Given the description of an element on the screen output the (x, y) to click on. 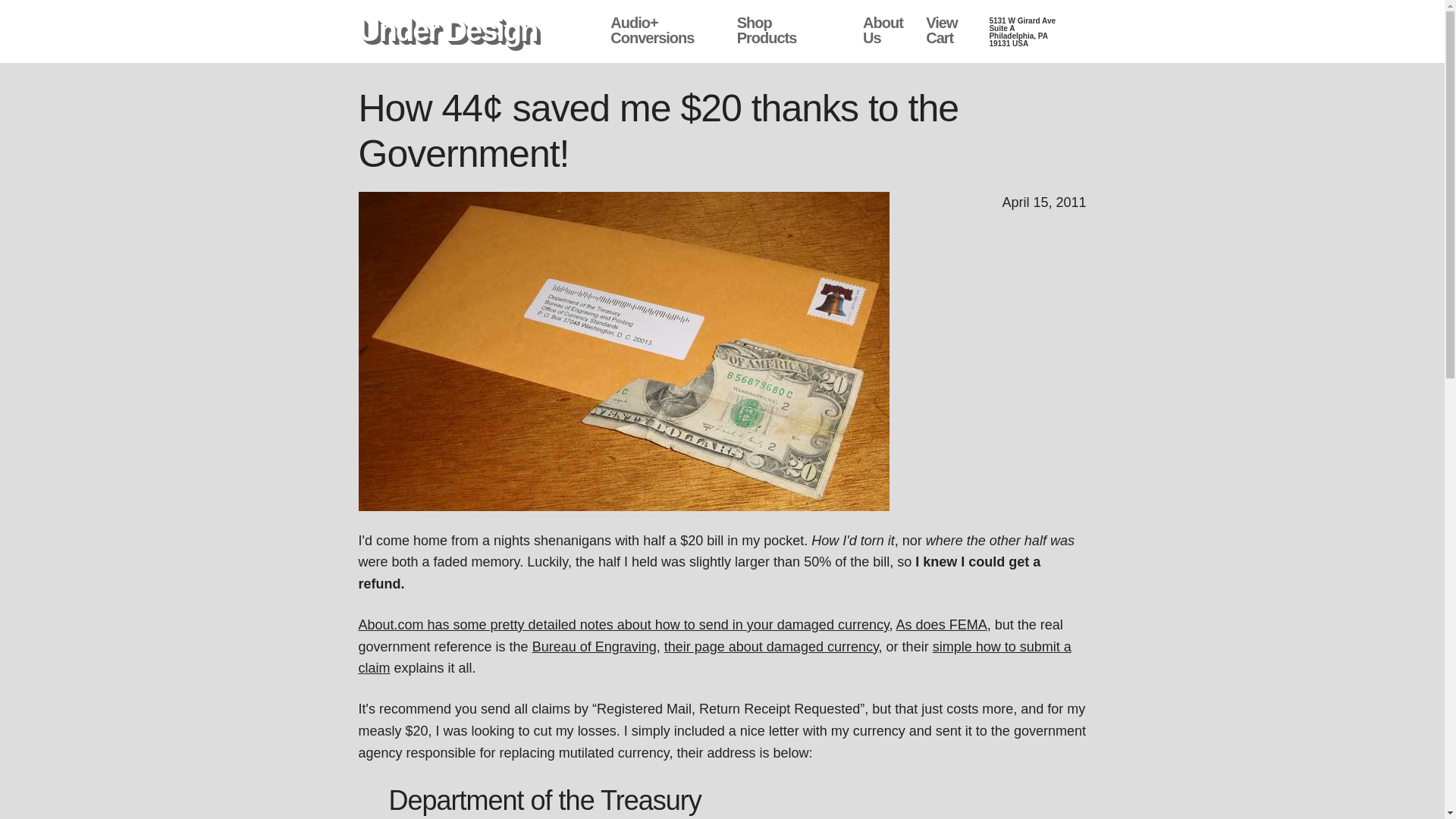
Bureau of Engraving (594, 646)
As does FEMA (941, 624)
Under Design (882, 29)
Busted20Sent (447, 29)
simple how to submit a claim (771, 646)
